Given the description of an element on the screen output the (x, y) to click on. 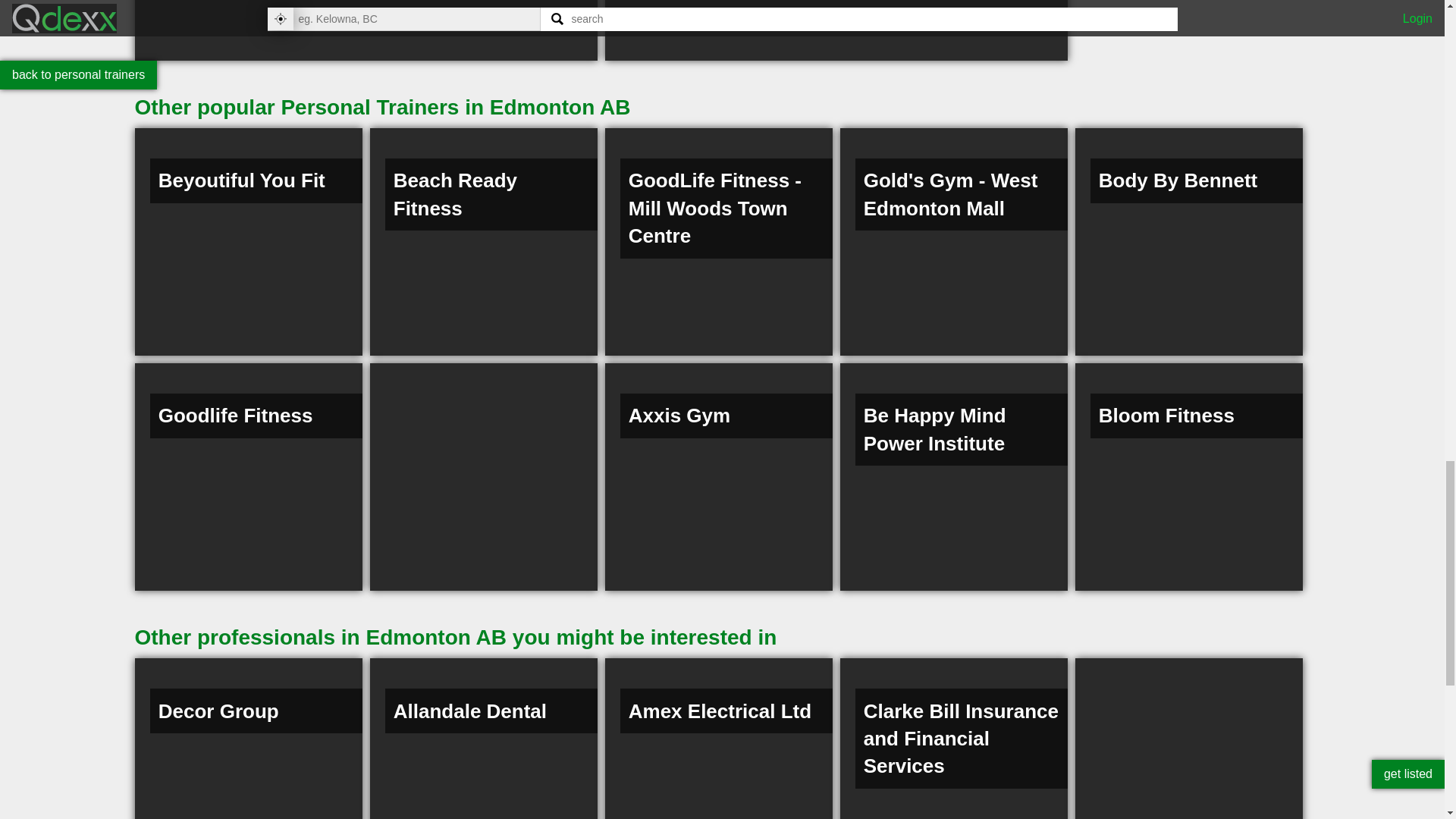
Bloom Fitness (1189, 476)
Beyoutiful You Fit (248, 241)
Goodlife Fitness (248, 476)
Be Happy Mind Power Institute (953, 476)
Axxis Gym (718, 476)
Gold's Gym - West Edmonton Mall (953, 241)
Allandale Dental (482, 738)
Beach Ready Fitness (482, 241)
Decor Group (248, 738)
GoodLife Fitness - Mill Woods Town Centre (718, 241)
Clarke Bill Insurance and Financial Services (953, 738)
Body By Bennett (1189, 241)
Amex Electrical Ltd (718, 738)
